Given the description of an element on the screen output the (x, y) to click on. 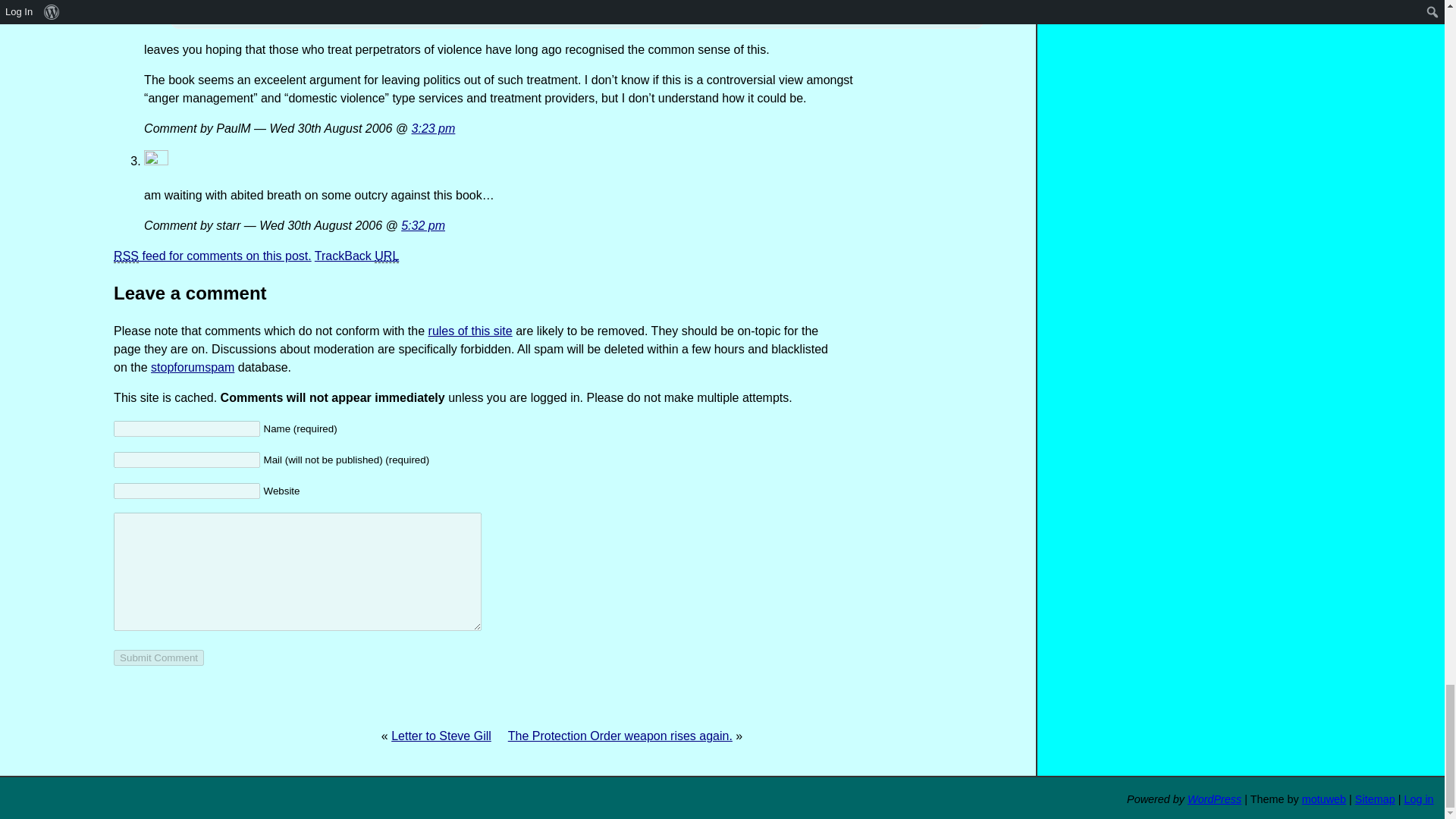
fast, effective, hand-crafted websites by John Potter (1323, 799)
RSS feed for comments on this post. (212, 255)
The Protection Order weapon rises again. (620, 735)
TrackBack URL (356, 255)
Really Simple Syndication (125, 255)
Submit Comment (158, 657)
5:32 pm (423, 225)
Letter to Steve Gill (441, 735)
3:23 pm (433, 128)
Universal Resource Locator (386, 255)
stopforumspam (192, 367)
rules of this site (470, 330)
Submit Comment (158, 657)
